Given the description of an element on the screen output the (x, y) to click on. 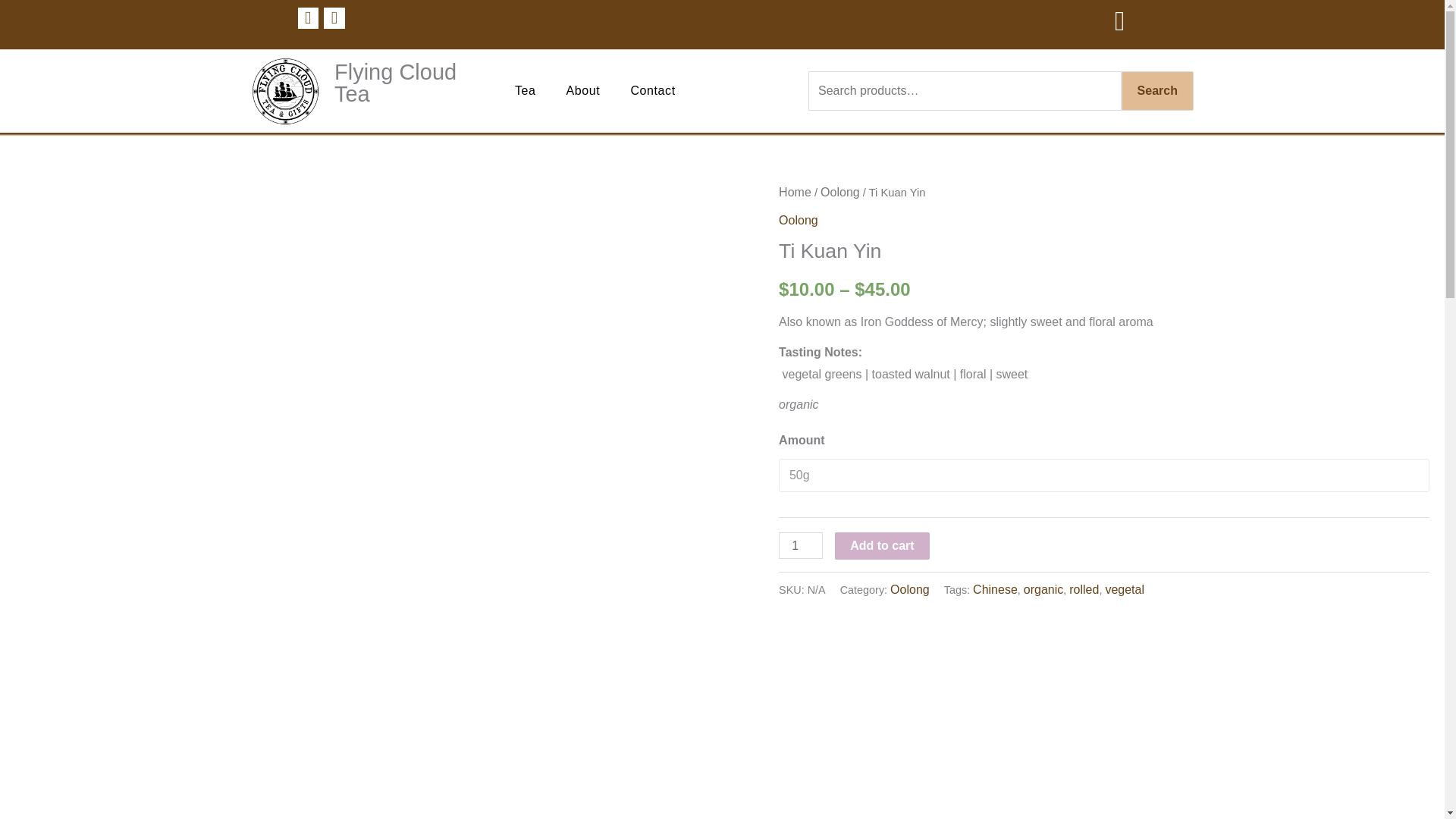
About (583, 90)
Contact (652, 90)
Search (1157, 90)
Flying Cloud Tea (409, 83)
Tea (525, 90)
Instagram (334, 17)
Facebook (307, 17)
1 (800, 545)
